Given the description of an element on the screen output the (x, y) to click on. 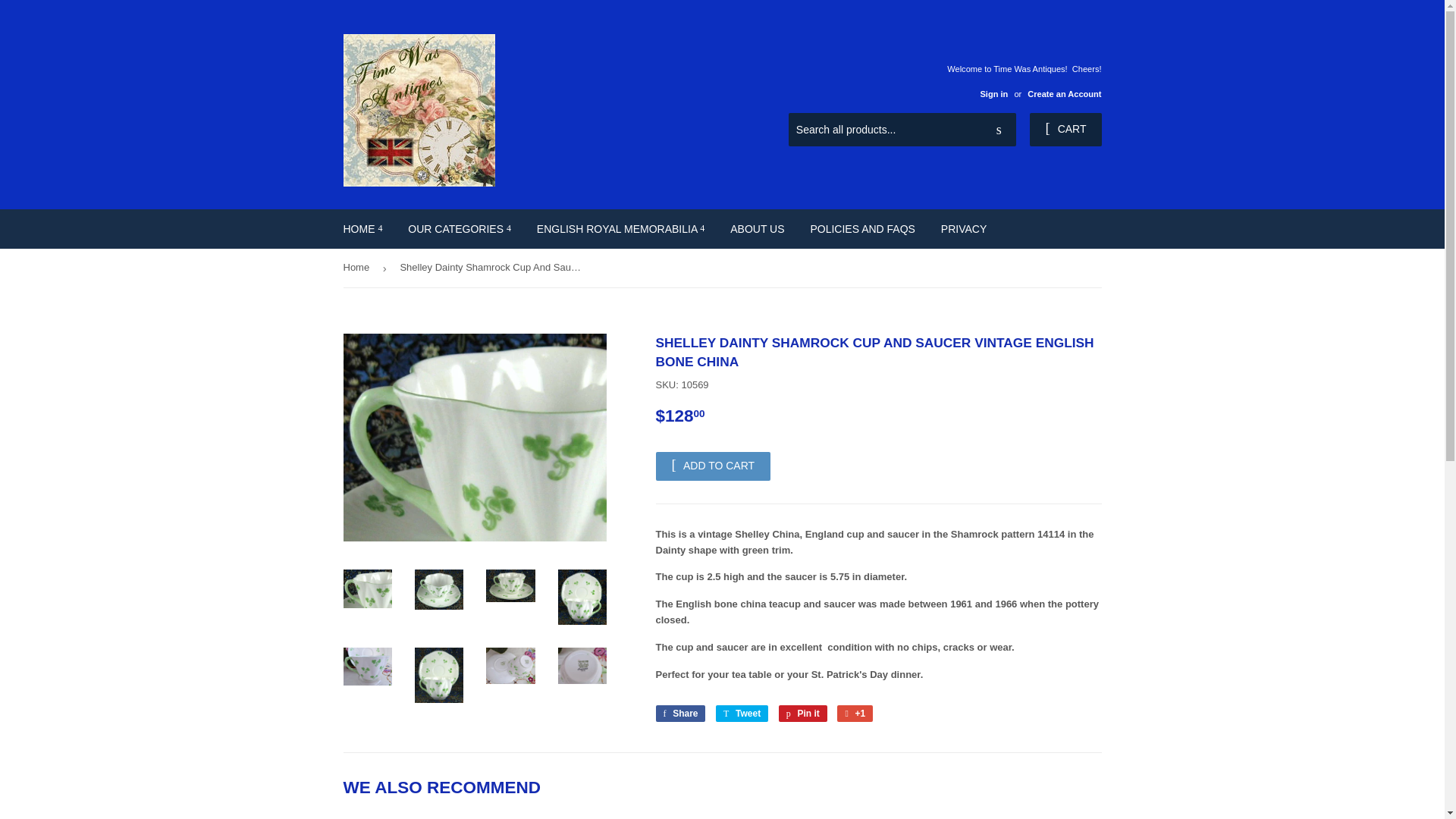
POLICIES AND FAQS (861, 228)
ENGLISH ROYAL MEMORABILIA (620, 228)
ABOUT US (756, 228)
Create an Account (1063, 93)
CART (1064, 129)
Sign in (993, 93)
Tweet on Twitter (742, 713)
HOME (362, 228)
Share on Facebook (679, 713)
Pin on Pinterest (802, 713)
PRIVACY (963, 228)
OUR CATEGORIES (459, 228)
Search (998, 130)
Back to the frontpage (358, 267)
